Given the description of an element on the screen output the (x, y) to click on. 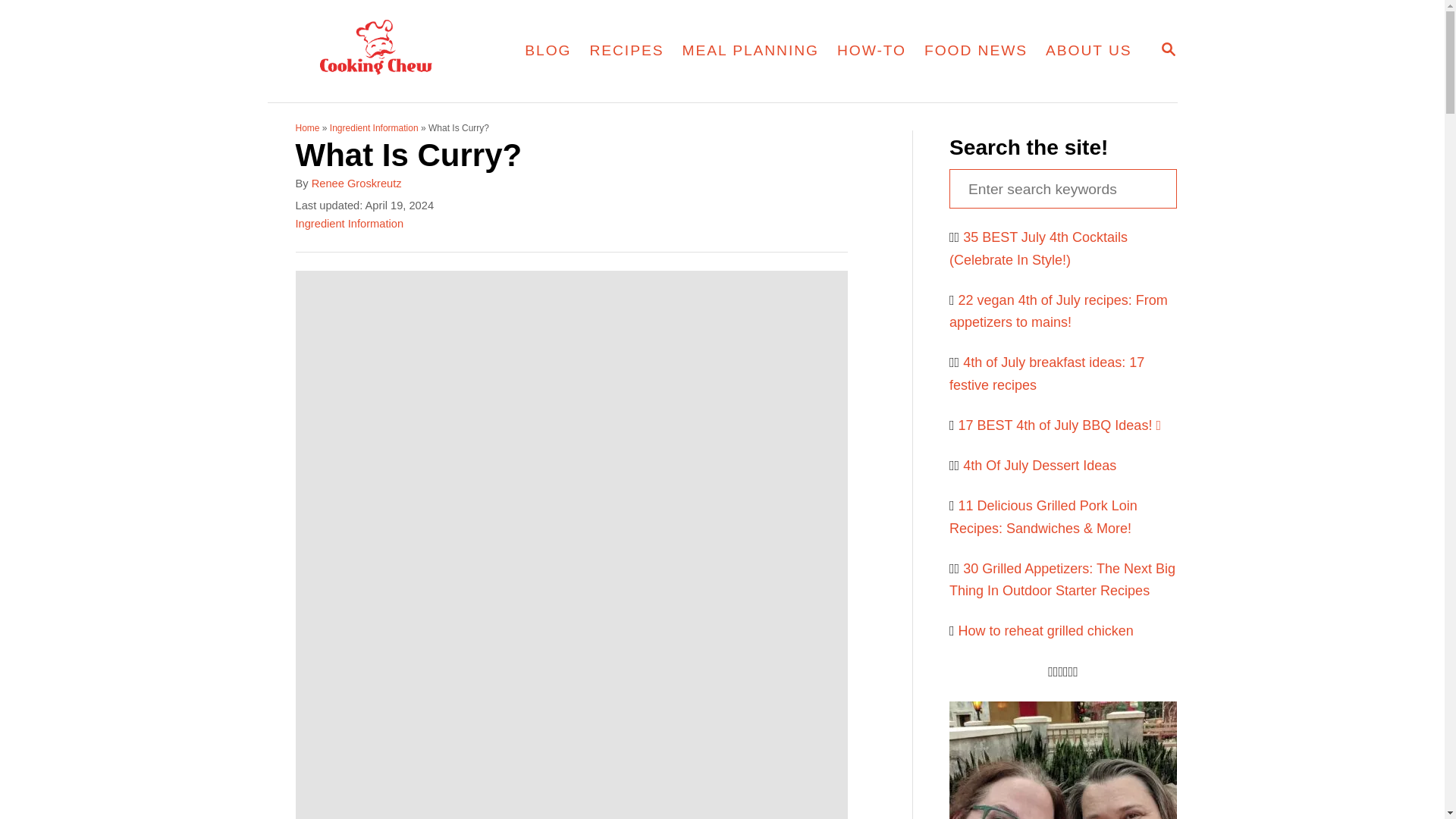
Cooking Chew (385, 51)
MAGNIFYING GLASS (1167, 50)
BLOG (1167, 49)
RECIPES (547, 50)
MEAL PLANNING (625, 50)
